Given the description of an element on the screen output the (x, y) to click on. 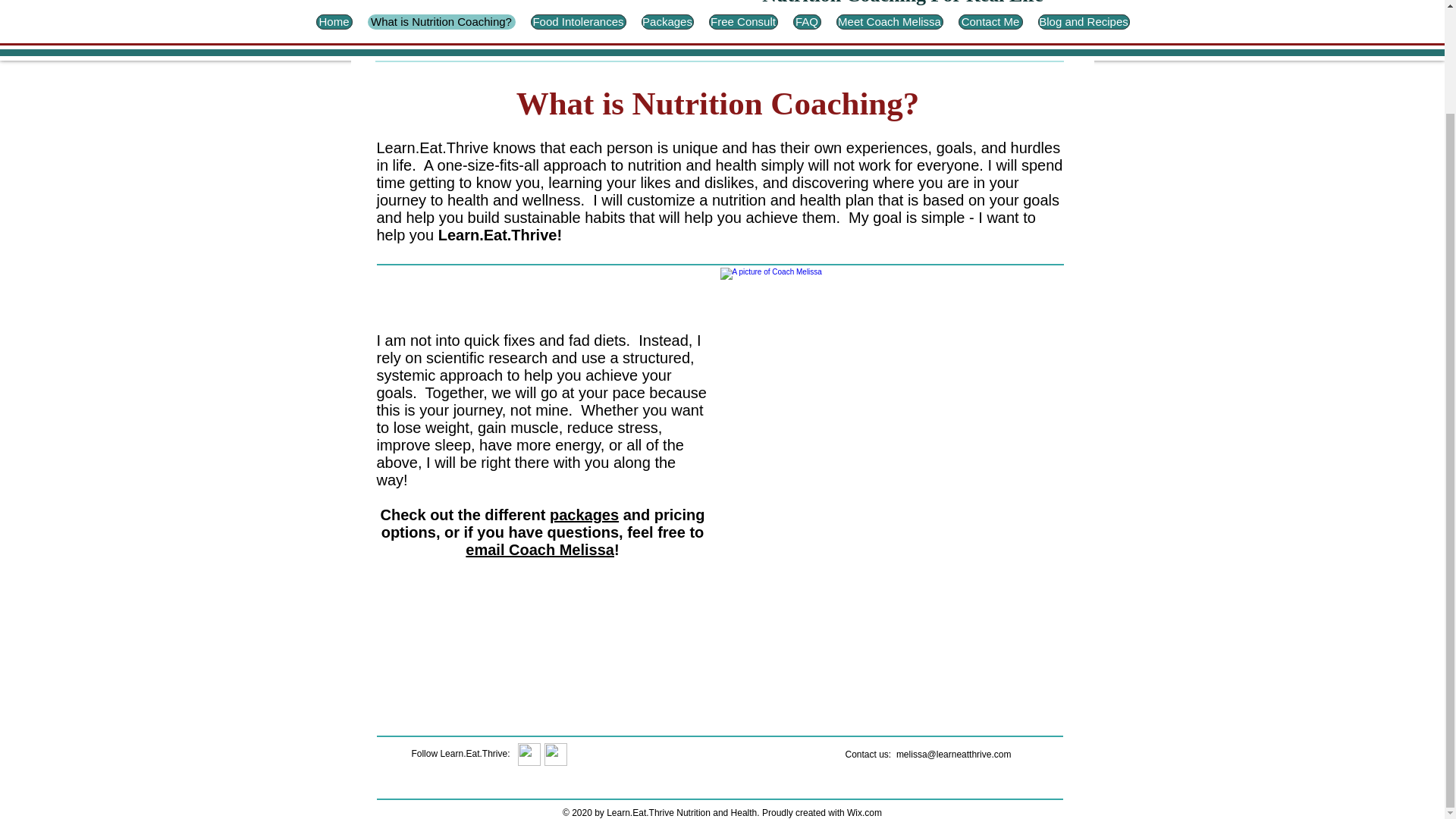
Home (333, 21)
Blog and Recipes (1082, 21)
Free Consult (742, 21)
Contact Me (990, 21)
Wix.com (864, 812)
Nutrition Coaching For Real Life (902, 2)
Meet Coach Melissa (888, 21)
Packages (668, 21)
FAQ (807, 21)
packages (584, 514)
email Coach Melissa (539, 549)
Food Intolerances (578, 21)
What is Nutrition Coaching? (440, 21)
